Given the description of an element on the screen output the (x, y) to click on. 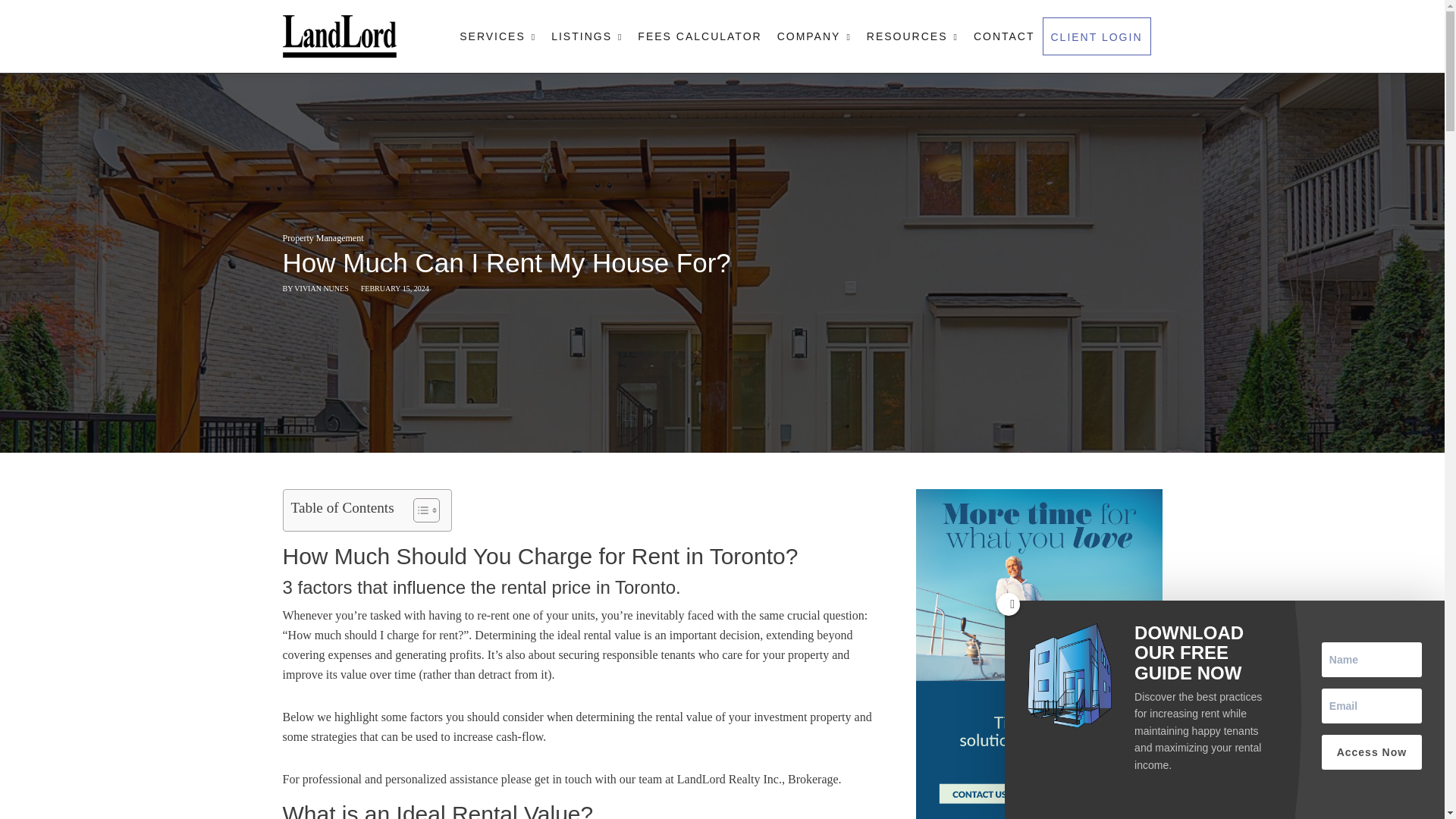
View all posts in Property Management (322, 237)
SERVICES (497, 36)
LandLord (339, 36)
Posts by Vivian Nunes (320, 288)
